Given the description of an element on the screen output the (x, y) to click on. 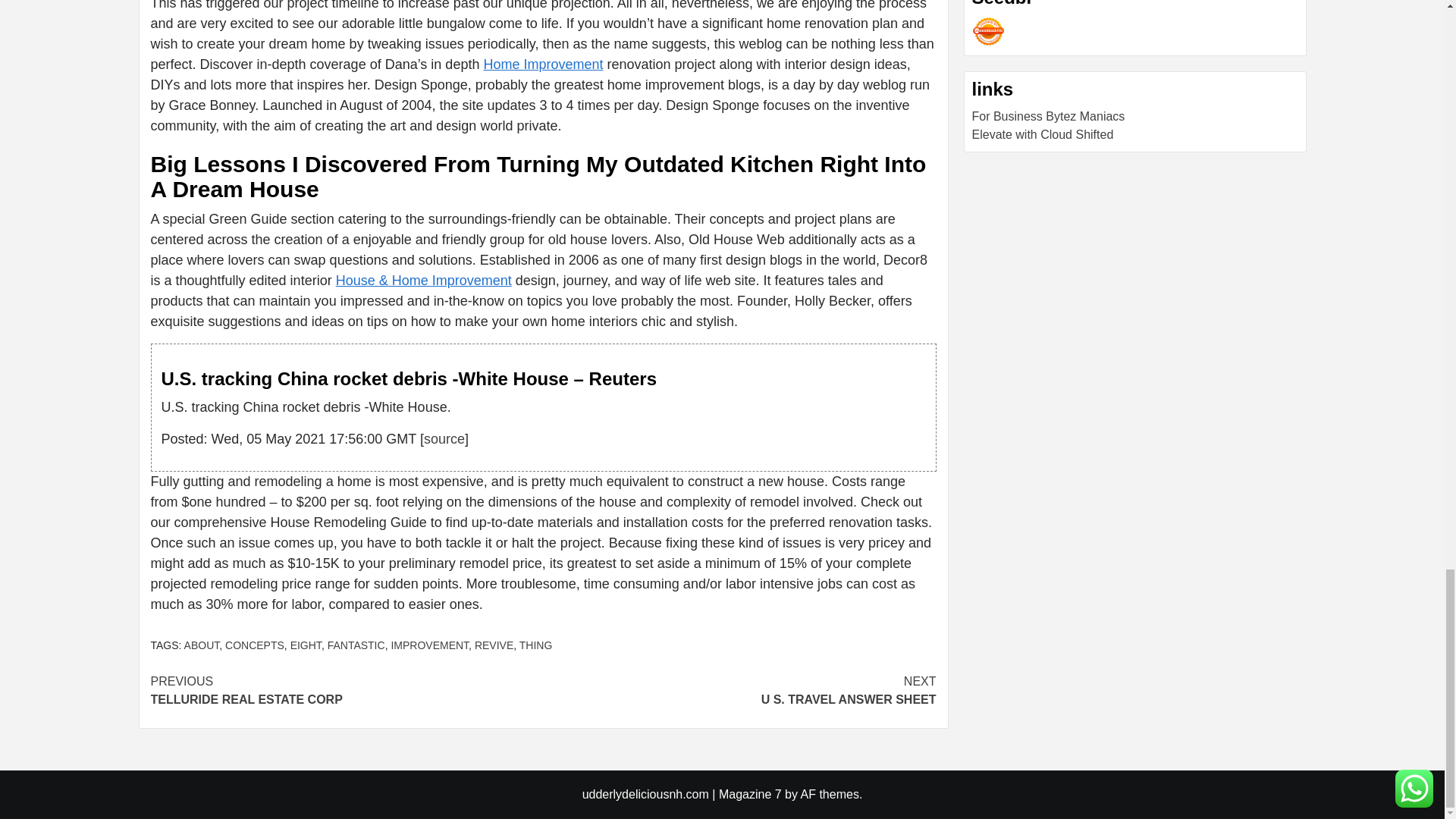
IMPROVEMENT (429, 645)
Home Improvement (542, 64)
FANTASTIC (356, 645)
ABOUT (201, 645)
CONCEPTS (254, 645)
EIGHT (305, 645)
Seedbacklink (988, 31)
source (443, 438)
